Given the description of an element on the screen output the (x, y) to click on. 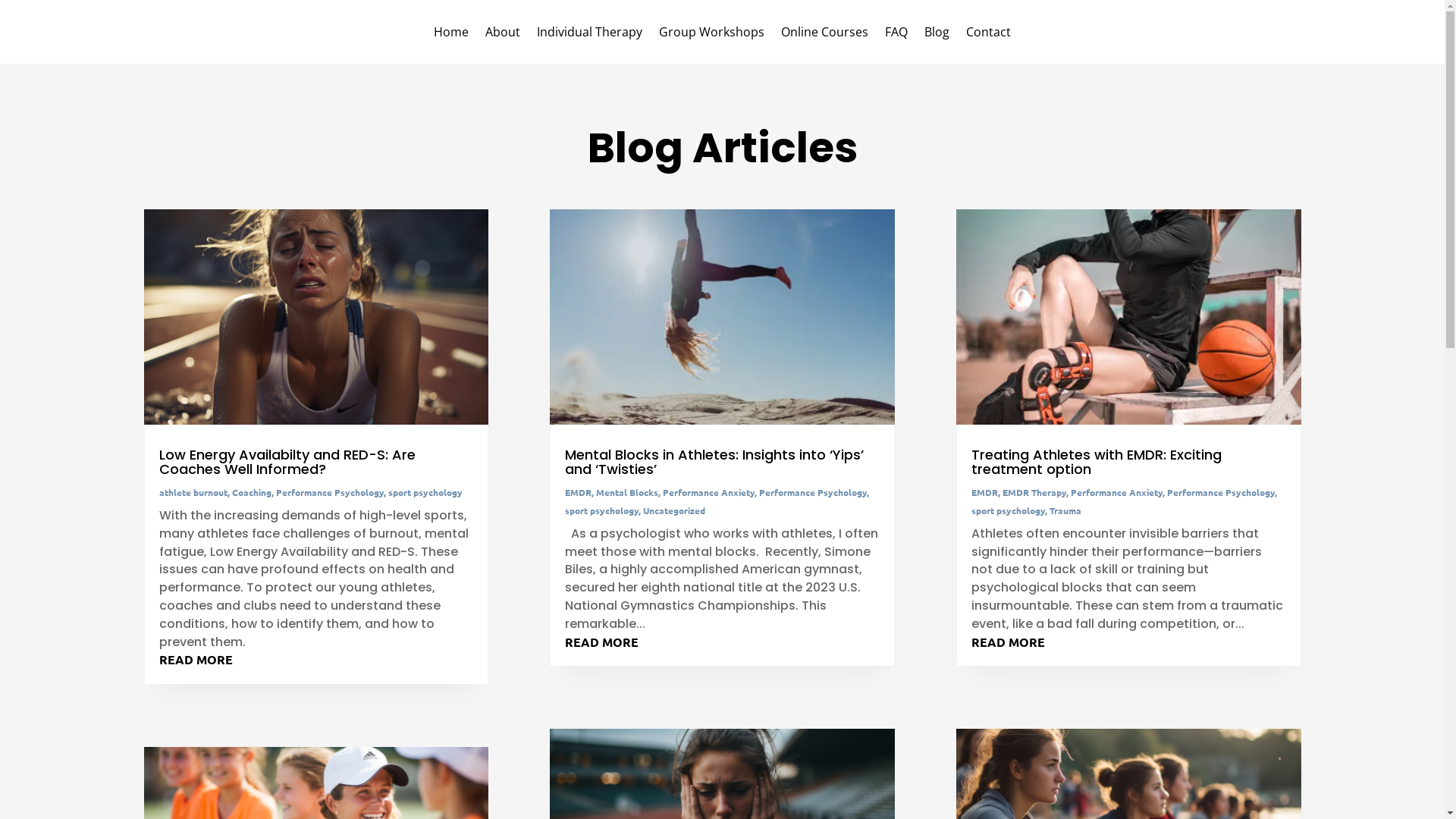
Individual Therapy Element type: text (589, 34)
READ MORE Element type: text (601, 641)
Performance Anxiety Element type: text (1116, 492)
Low Energy Availabilty and RED-S: Are Coaches Well Informed? Element type: text (287, 461)
Trauma Element type: text (1065, 510)
Treating Athletes with EMDR: Exciting treatment option Element type: text (1096, 461)
EMDR Element type: text (577, 492)
Performance Psychology Element type: text (1220, 492)
sport psychology Element type: text (601, 510)
Group Workshops Element type: text (711, 34)
Blog Element type: text (936, 34)
Performance Psychology Element type: text (812, 492)
sport psychology Element type: text (1007, 510)
Performance Anxiety Element type: text (708, 492)
Online Courses Element type: text (824, 34)
Home Element type: text (450, 34)
Performance Psychology Element type: text (329, 492)
READ MORE Element type: text (195, 659)
Contact Element type: text (988, 34)
Coaching Element type: text (251, 492)
READ MORE Element type: text (1007, 641)
Uncategorized Element type: text (674, 510)
EMDR Element type: text (984, 492)
EMDR Therapy Element type: text (1034, 492)
sport psychology Element type: text (425, 492)
athlete burnout Element type: text (193, 492)
About Element type: text (502, 34)
FAQ Element type: text (895, 34)
Mental Blocks Element type: text (627, 492)
